Given the description of an element on the screen output the (x, y) to click on. 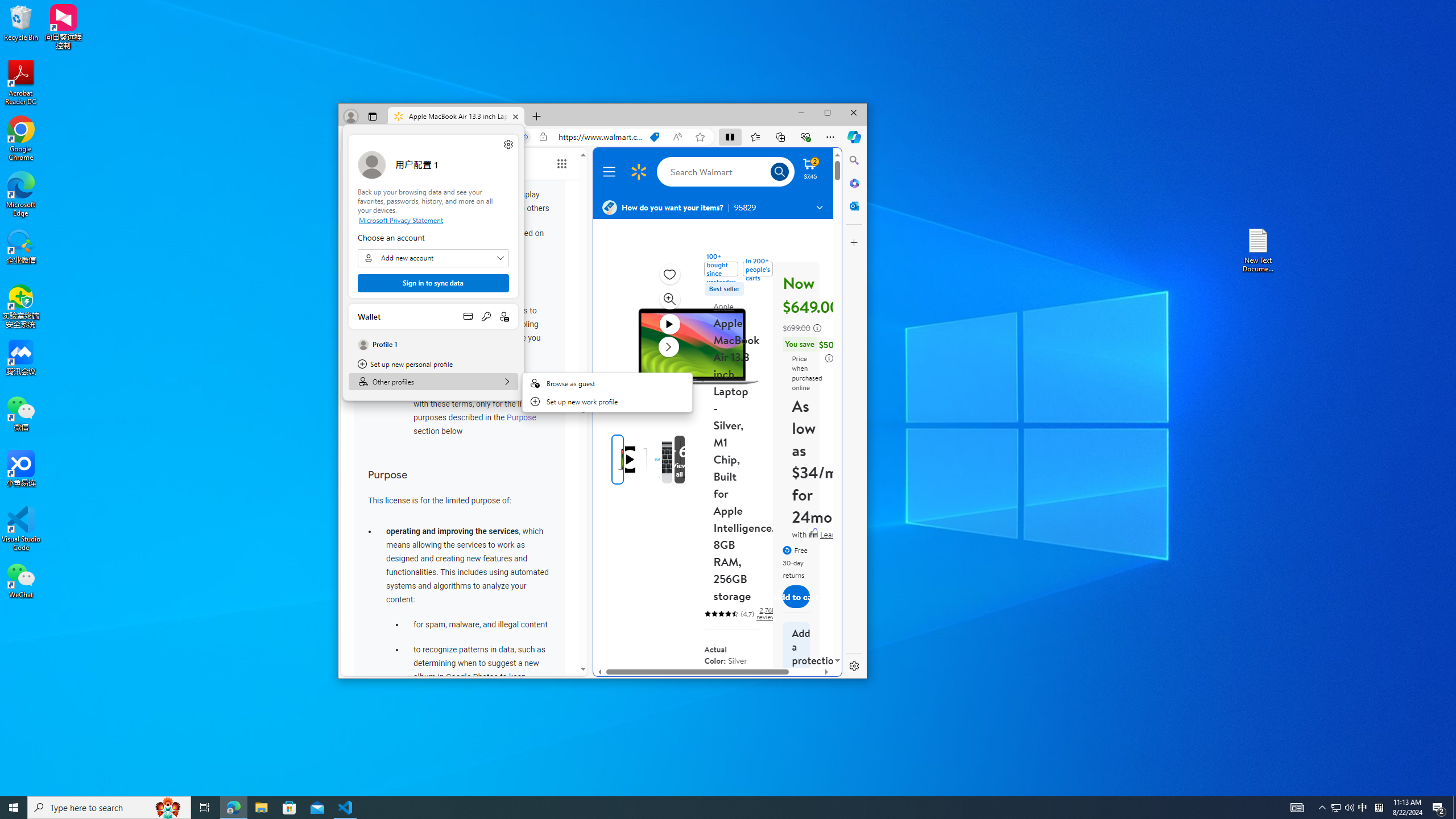
Learn how (837, 534)
AutomationID: 4105 (1297, 807)
View video (669, 323)
Gold, $649.00 (1335, 807)
View all media (715, 692)
